Given the description of an element on the screen output the (x, y) to click on. 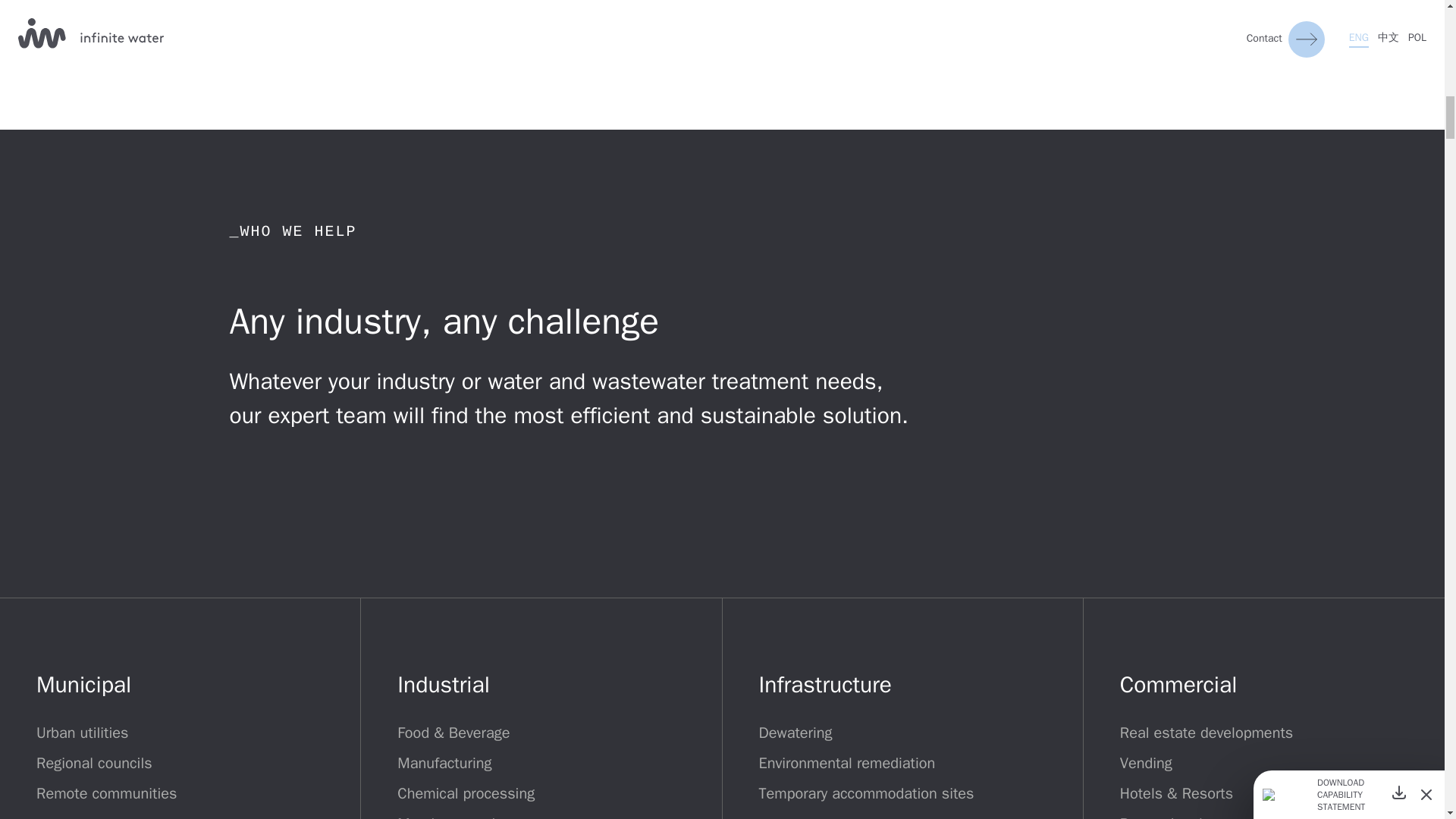
Recreational (1160, 816)
Chemical processing (465, 793)
Real estate developments (1205, 732)
Vending (1145, 763)
Dewatering (794, 732)
Metal processing (454, 816)
Manufacturing (444, 763)
Temporary accommodation sites (866, 793)
Remote communities (106, 793)
Urban utilities (82, 732)
Regional councils (94, 763)
Environmental remediation (846, 763)
